Given the description of an element on the screen output the (x, y) to click on. 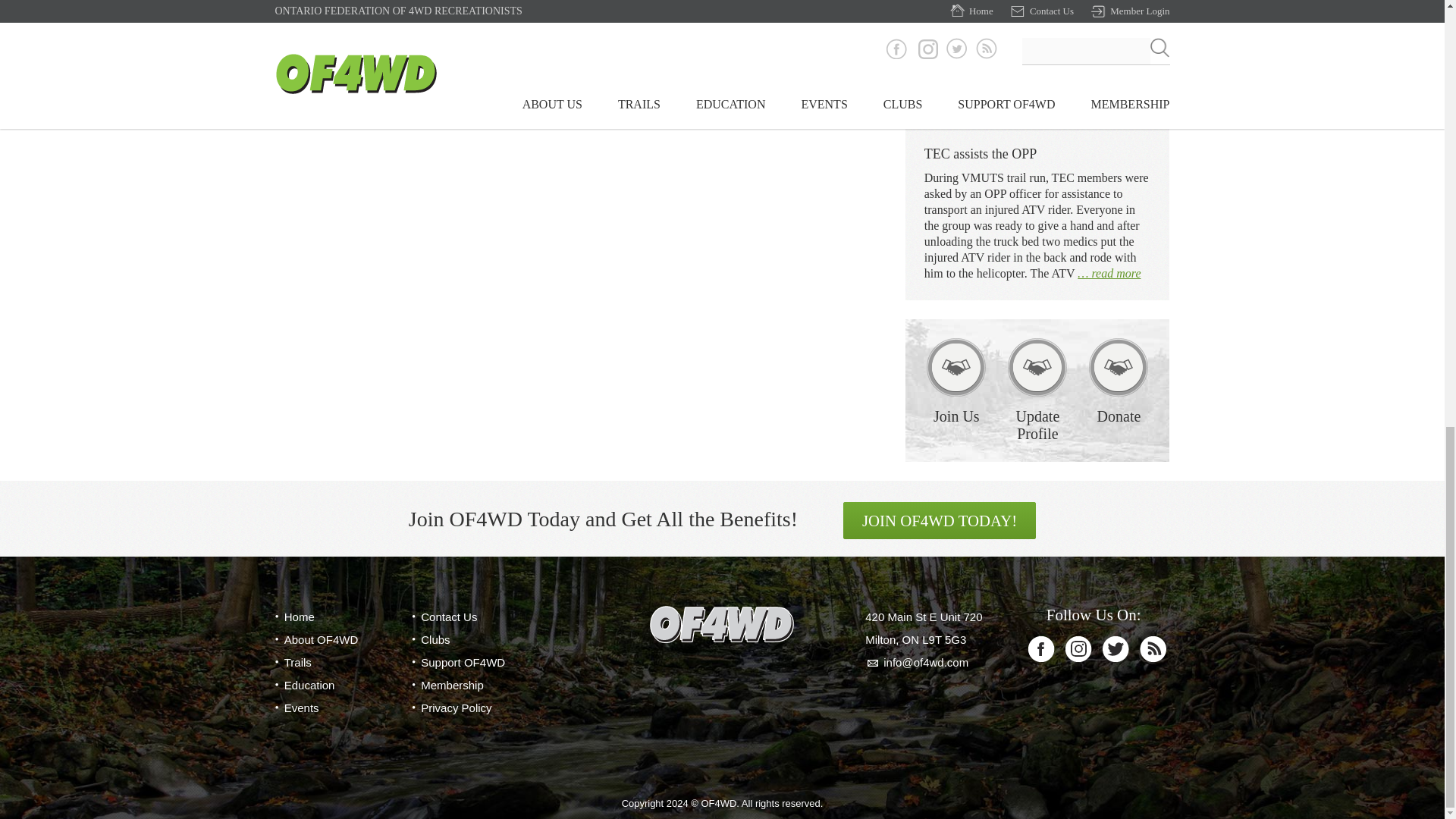
RSS (1153, 648)
Facebook (1040, 648)
Twitter (1115, 648)
Instagram (1078, 648)
